Given the description of an element on the screen output the (x, y) to click on. 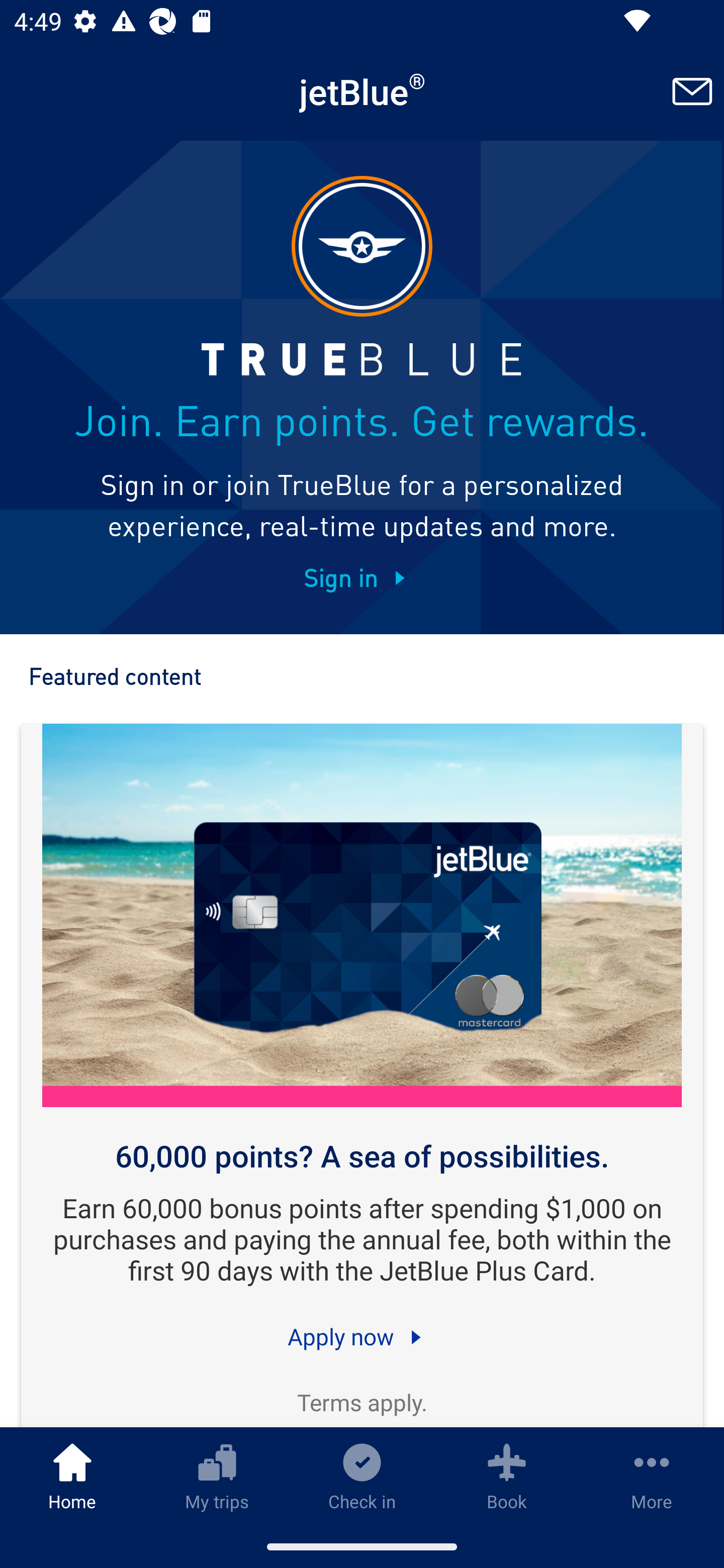
Apply now (361, 1336)
My trips (216, 1475)
Check in (361, 1475)
Book (506, 1475)
More (651, 1475)
